Given the description of an element on the screen output the (x, y) to click on. 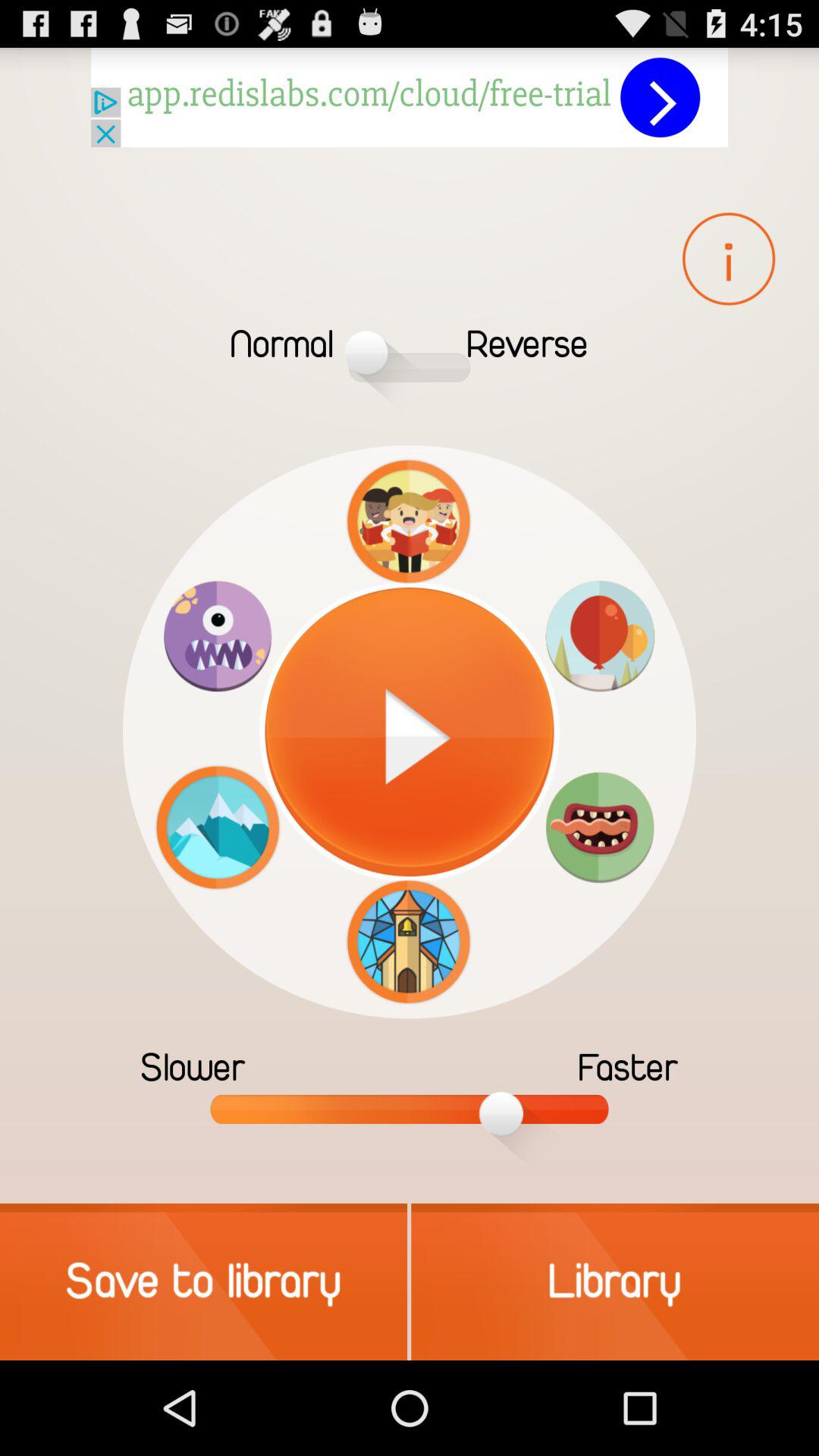
select the image above slower (217, 826)
select the purple color emoji (217, 636)
click on the icon above the play icon (408, 521)
select the one which is in between the normal and reverse (409, 351)
